Given the description of an element on the screen output the (x, y) to click on. 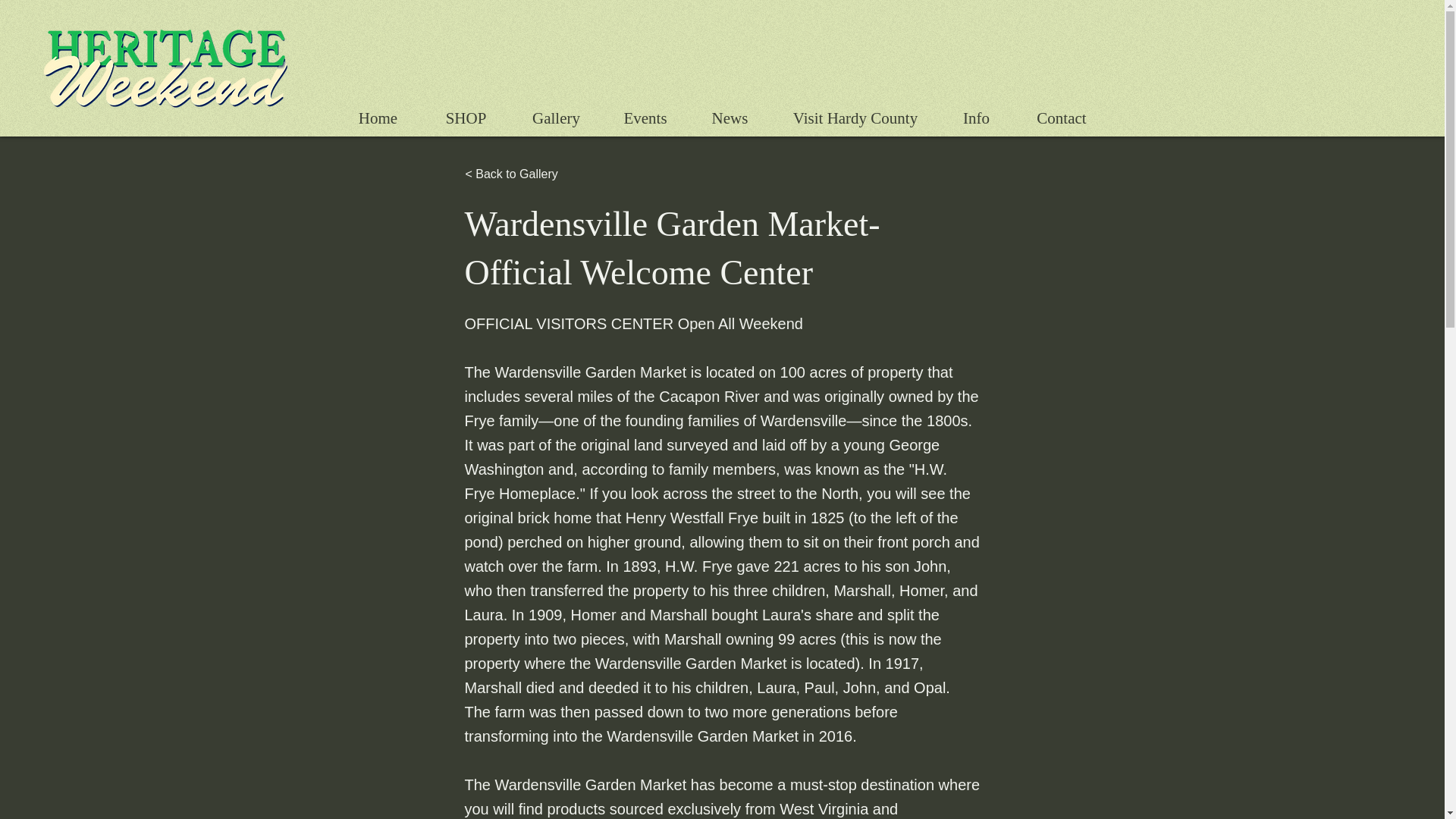
Gallery (556, 118)
SHOP (466, 118)
Home (378, 118)
Events (645, 118)
News (729, 118)
Visit Hardy County (854, 118)
Contact (1061, 118)
Info (976, 118)
